Given the description of an element on the screen output the (x, y) to click on. 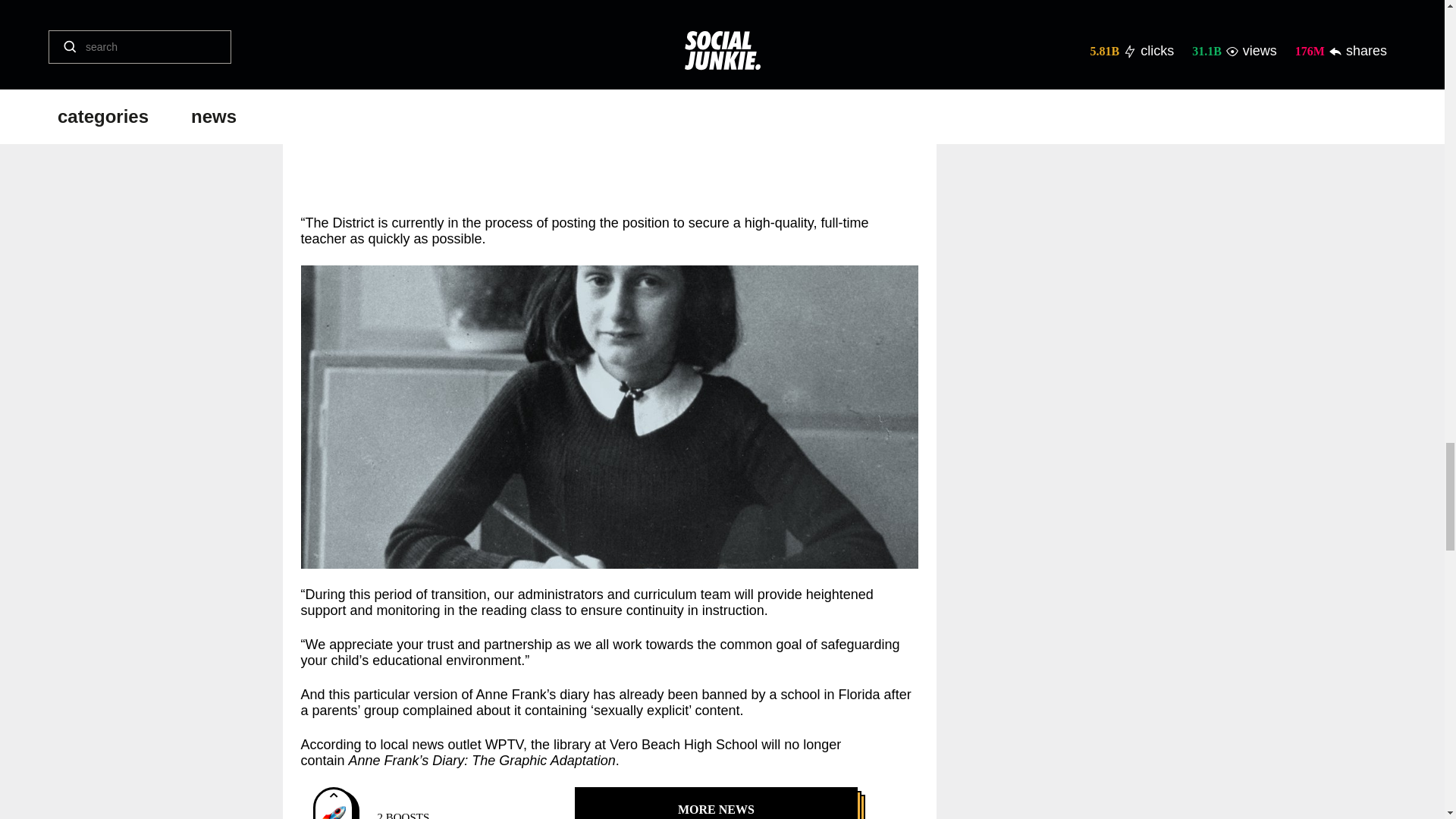
Fire (333, 812)
2 BOOSTS (333, 812)
MORE NEWS (716, 803)
